Given the description of an element on the screen output the (x, y) to click on. 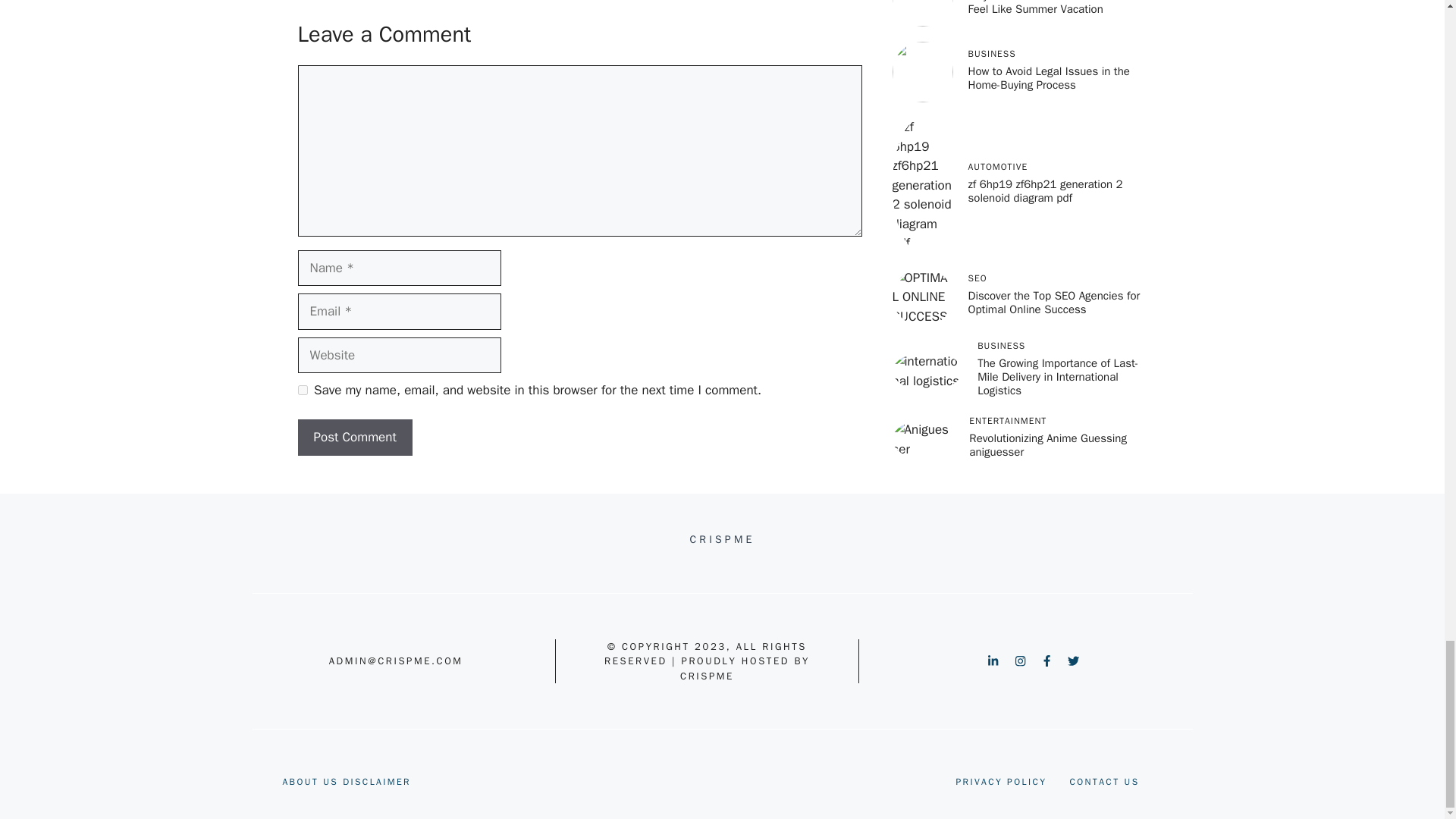
yes (302, 389)
Post Comment (354, 437)
Post Comment (354, 437)
